Given the description of an element on the screen output the (x, y) to click on. 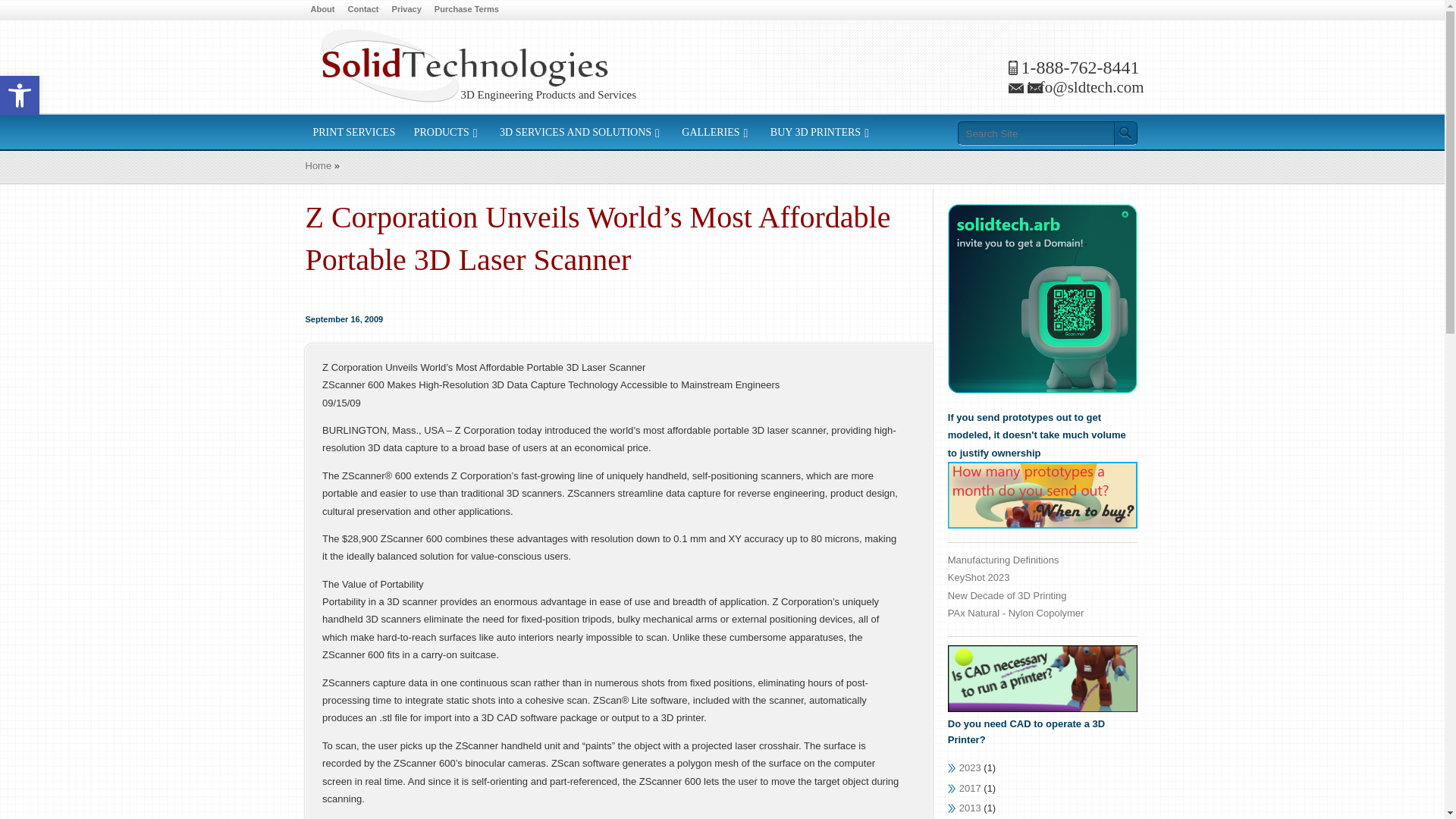
Privacy (406, 9)
Accessibility Tools (19, 95)
Contact (363, 9)
3D Printers Rapid Prototyping CAD Software (463, 65)
Accessibility Tools (19, 95)
3D Printers Rapid Prototyping CAD Software (463, 65)
About (321, 9)
Purchase Terms (19, 95)
